Given the description of an element on the screen output the (x, y) to click on. 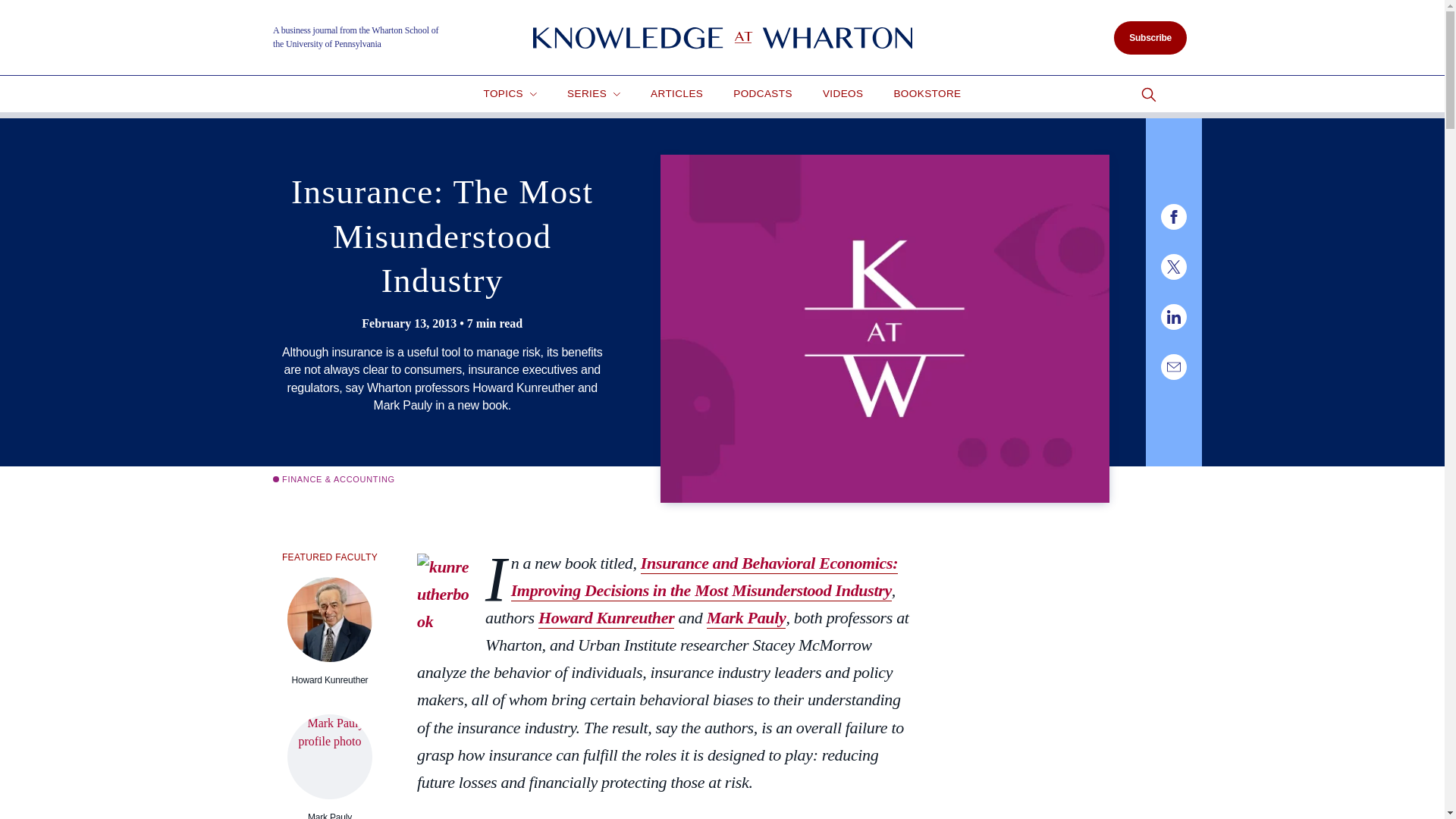
Share this page on Twitter (1173, 266)
Go to site search (1148, 94)
Knowledge at Wharton (721, 37)
Subscribe (1149, 37)
Share this page on Facebook (1173, 216)
Share this page on LinkedIn (1173, 316)
Share this page by email (1173, 366)
